Given the description of an element on the screen output the (x, y) to click on. 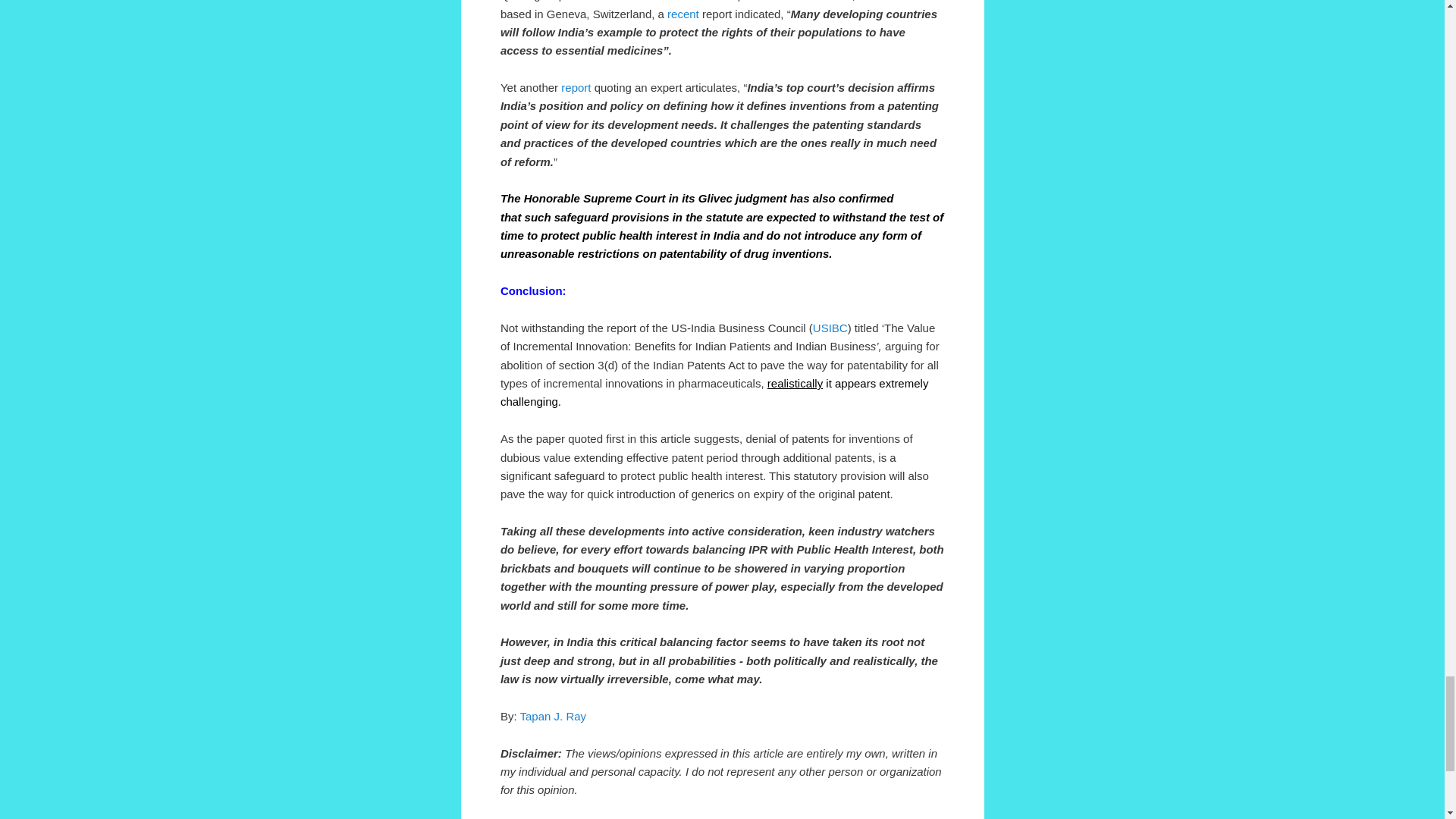
Tapan J. Ray (552, 716)
report (575, 87)
recent (682, 13)
USIBC (829, 327)
